Given the description of an element on the screen output the (x, y) to click on. 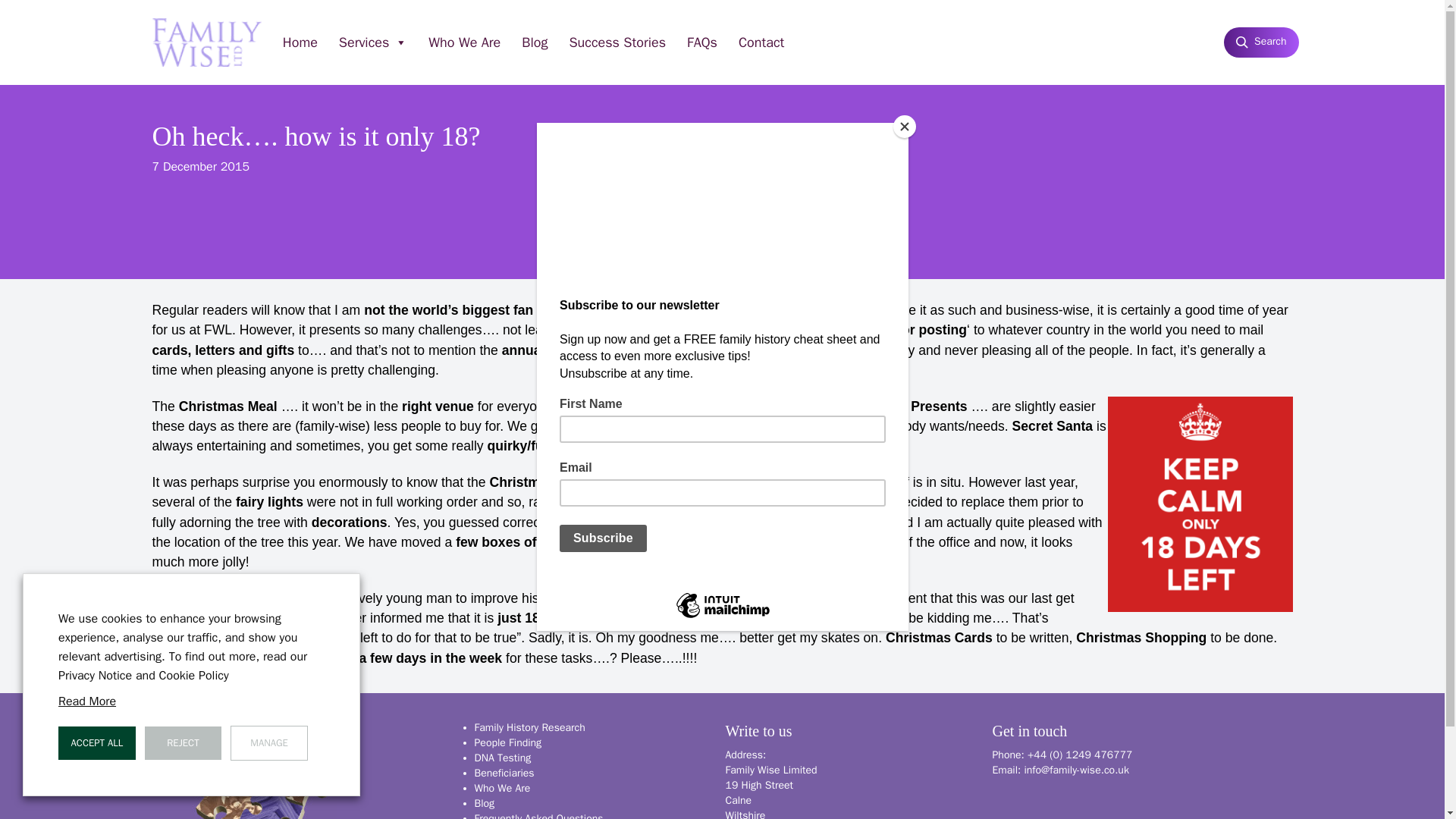
Success Stories (617, 42)
People Finding (507, 742)
Contact (761, 42)
Blog (484, 802)
ACCEPT ALL (96, 743)
Read More (87, 701)
Beneficiaries (504, 772)
Services (374, 42)
Home (300, 42)
DNA Testing (502, 757)
Frequently Asked Questions (539, 815)
MANAGE (268, 742)
Family History Research (529, 727)
REJECT (183, 743)
Who We Are (502, 788)
